Given the description of an element on the screen output the (x, y) to click on. 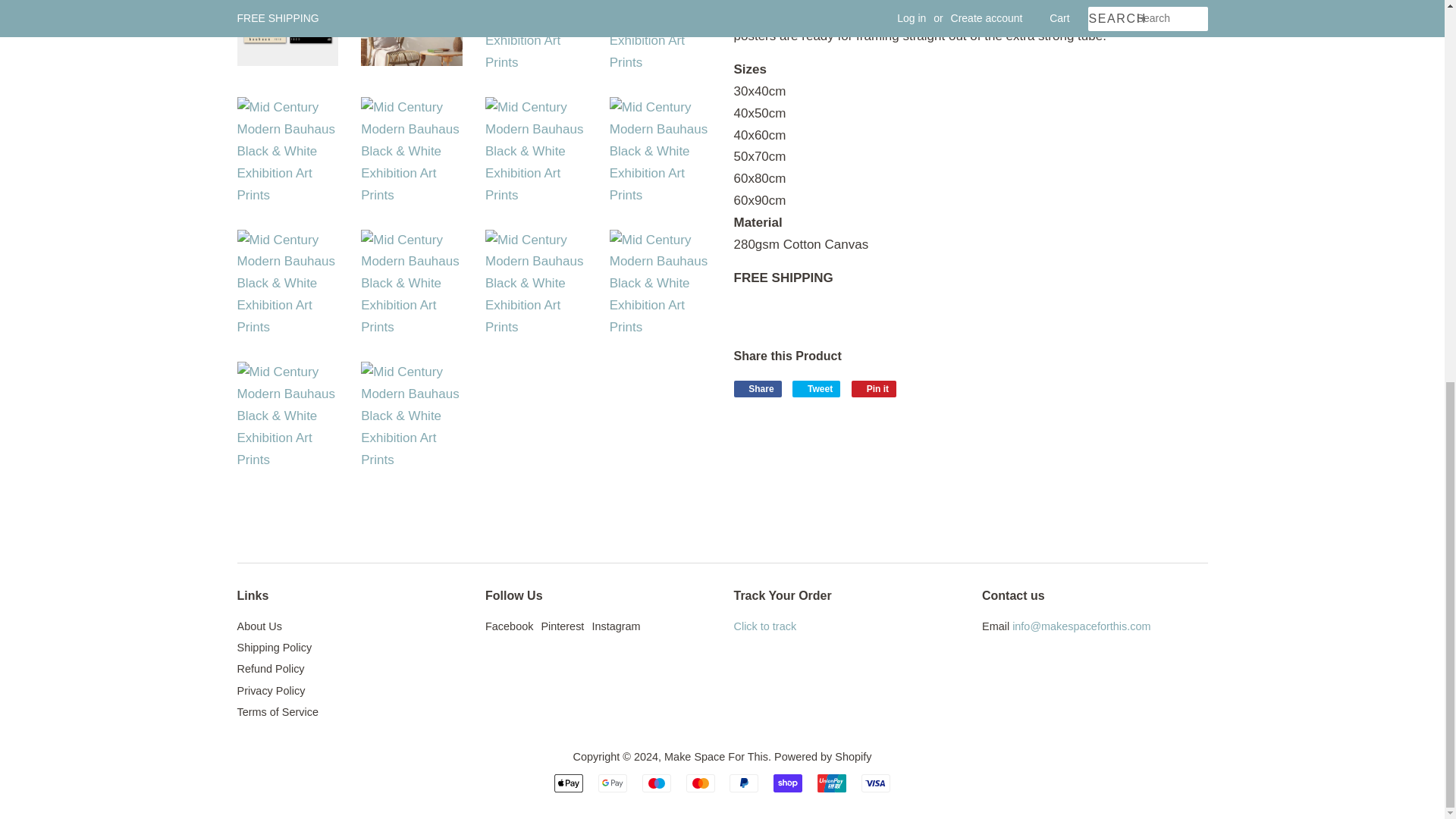
Pin on Pinterest (873, 388)
Apple Pay (568, 782)
Union Pay (830, 782)
Google Pay (612, 782)
Share on Facebook (757, 388)
Tweet on Twitter (816, 388)
Make Space For This on Facebook (508, 625)
Make Space For This on Pinterest (561, 625)
Maestro (656, 782)
Mastercard (699, 782)
